Given the description of an element on the screen output the (x, y) to click on. 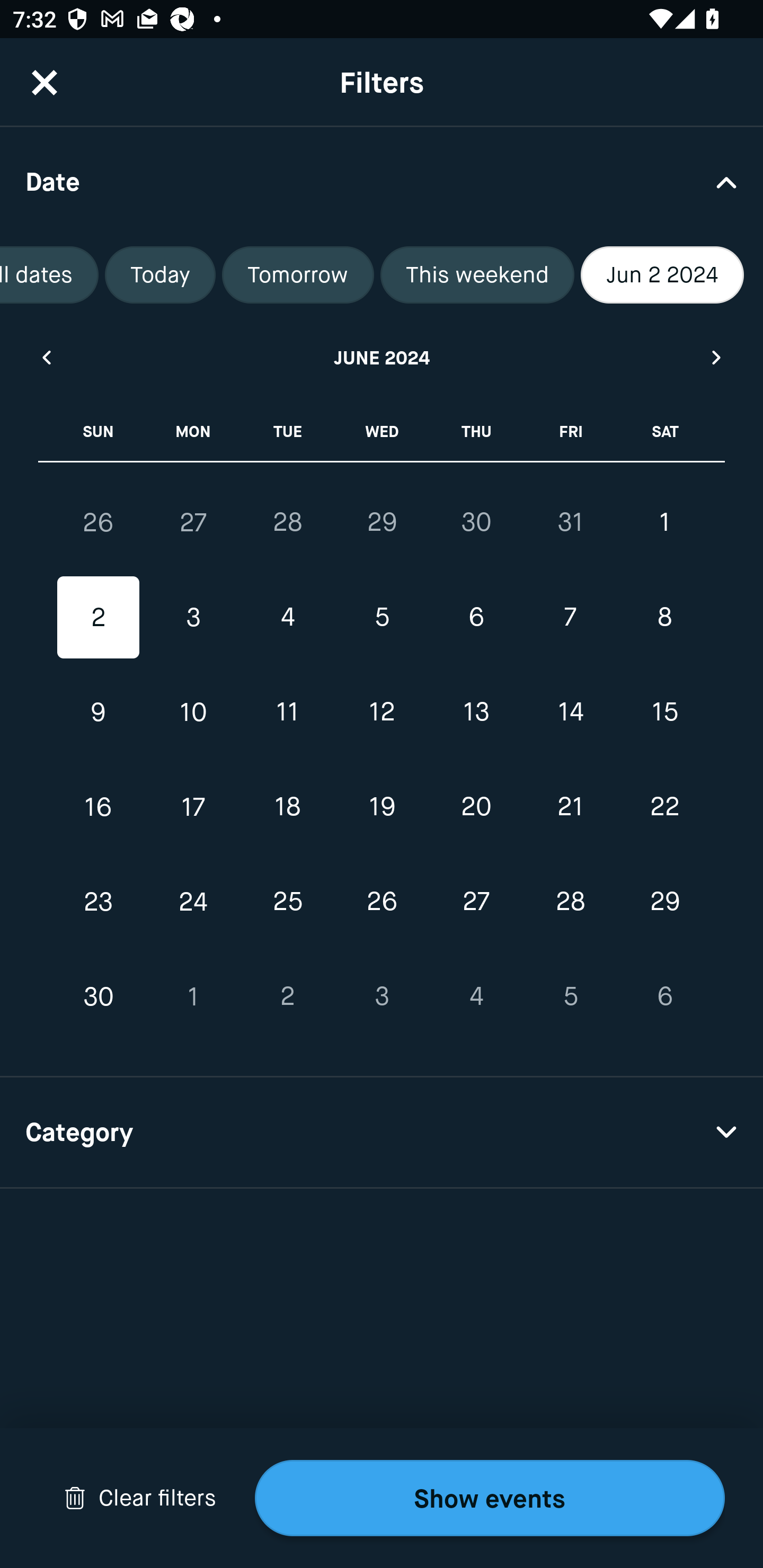
CloseButton (44, 82)
Date Drop Down Arrow (381, 181)
All dates (49, 274)
Today (160, 274)
Tomorrow (297, 274)
This weekend (477, 274)
Jun 2 2024 (661, 274)
Previous (45, 357)
Next (717, 357)
26 (98, 522)
27 (192, 522)
28 (287, 522)
29 (381, 522)
30 (475, 522)
31 (570, 522)
1 (664, 522)
2 (98, 617)
3 (192, 617)
4 (287, 617)
5 (381, 617)
6 (475, 617)
7 (570, 617)
8 (664, 617)
9 (98, 711)
10 (192, 711)
11 (287, 711)
12 (381, 711)
13 (475, 711)
14 (570, 711)
15 (664, 711)
16 (98, 806)
17 (192, 806)
18 (287, 806)
19 (381, 806)
20 (475, 806)
21 (570, 806)
22 (664, 806)
23 (98, 901)
24 (192, 901)
25 (287, 901)
26 (381, 901)
27 (475, 901)
28 (570, 901)
29 (664, 901)
30 (98, 996)
1 (192, 996)
2 (287, 996)
3 (381, 996)
4 (475, 996)
5 (570, 996)
